Given the description of an element on the screen output the (x, y) to click on. 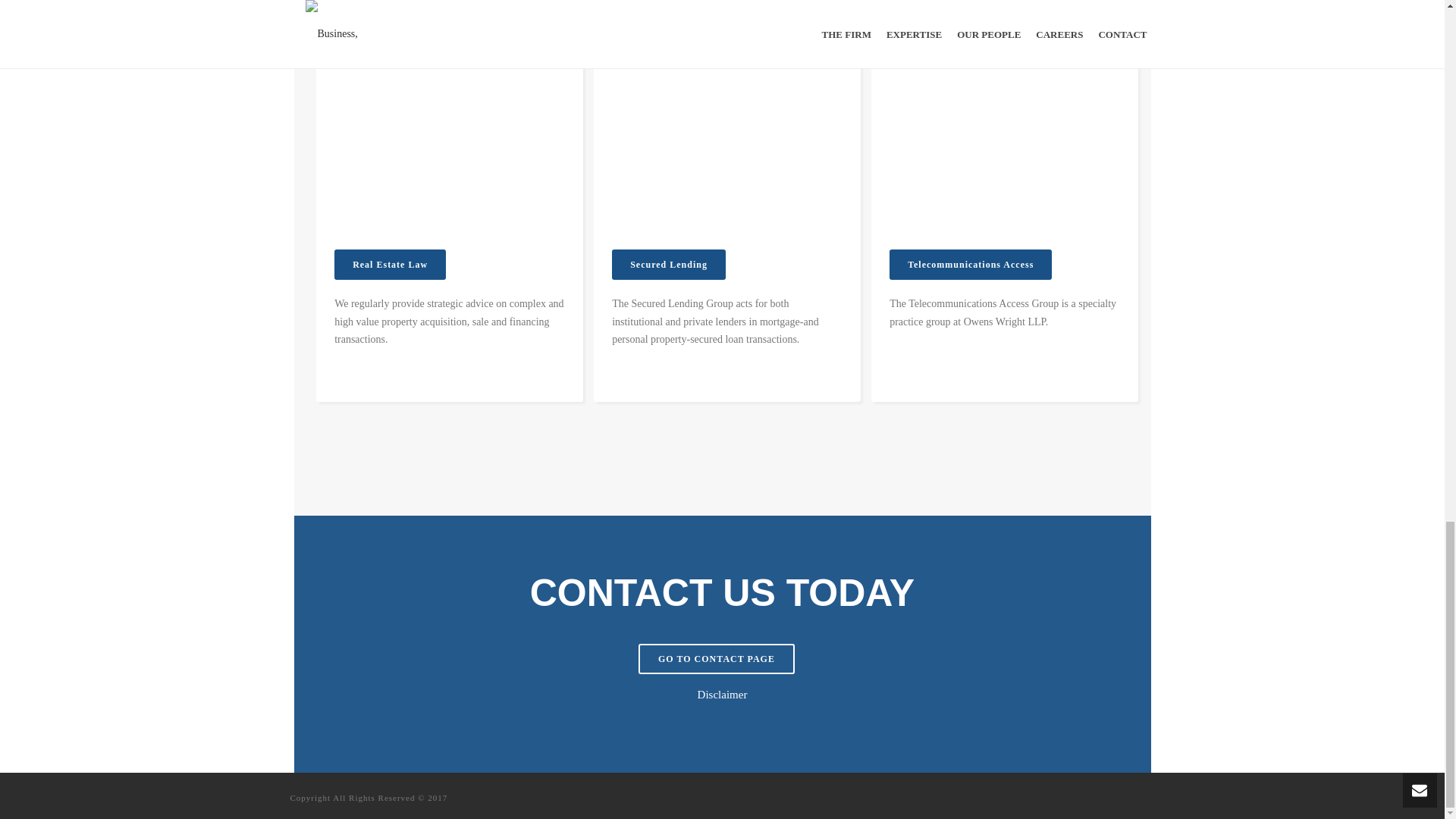
Disclaimer (722, 694)
Telecommunications Access (970, 264)
GO TO CONTACT PAGE (716, 658)
Real Estate Law (389, 264)
Secured Lending (668, 264)
Telecommunications Access (970, 264)
GO TO CONTACT PAGE (716, 658)
Secured Lending (668, 264)
Real Estate Law (389, 264)
